Given the description of an element on the screen output the (x, y) to click on. 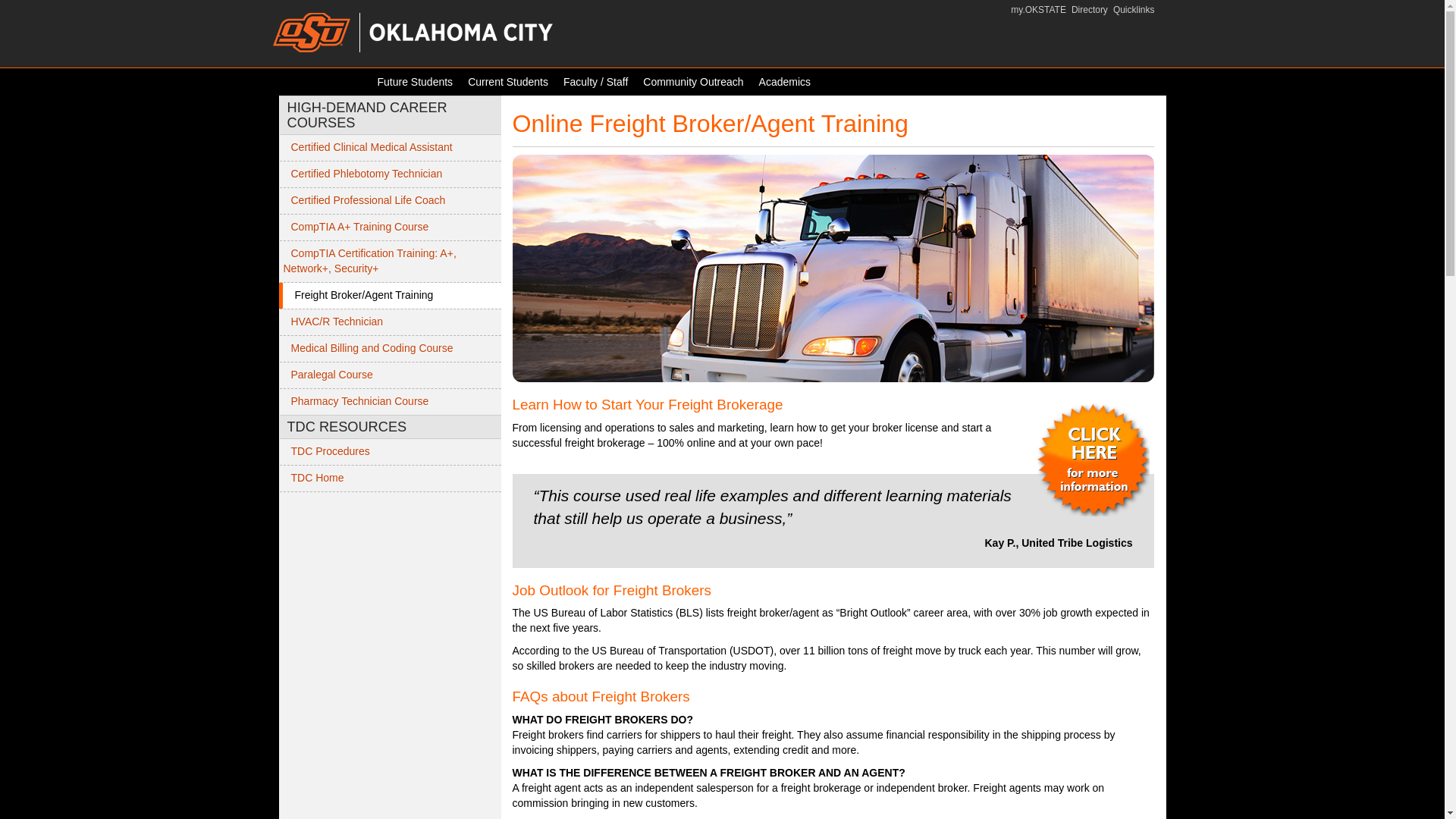
my.OKSTATE (1037, 9)
Quicklinks (1133, 9)
Directory (1089, 9)
Future Students (415, 81)
